Given the description of an element on the screen output the (x, y) to click on. 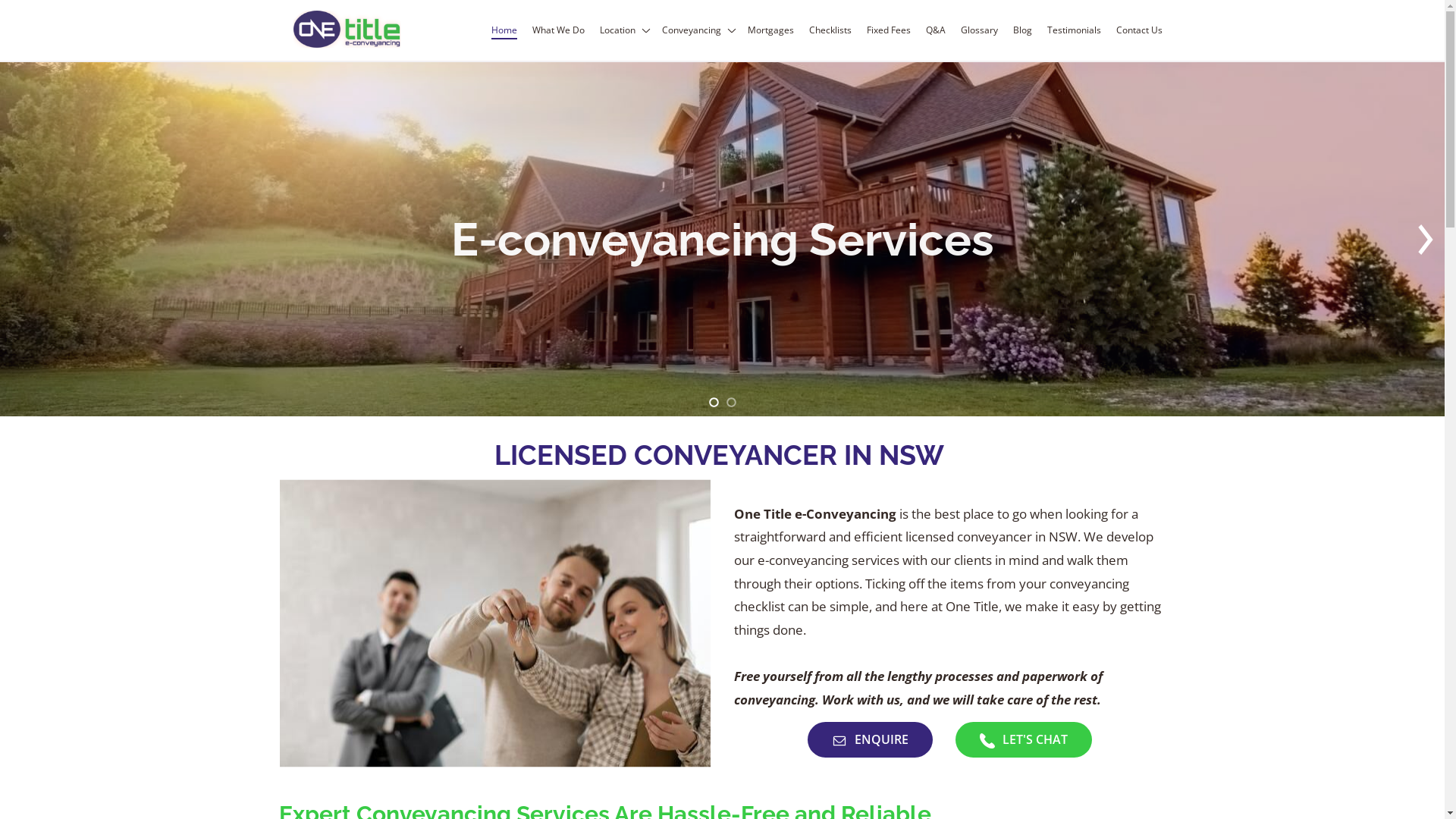
Conveyancing Element type: text (697, 30)
Blog Element type: text (1021, 30)
Contact Us Element type: text (1138, 30)
licensed conveyancer nsw Element type: hover (494, 622)
Q&A Element type: text (935, 30)
Checklists Element type: text (830, 30)
Glossary Element type: text (979, 30)
Mortgages Element type: text (770, 30)
Fixed Fees Element type: text (888, 30)
LET'S CHAT Element type: text (1023, 739)
Home Element type: text (503, 30)
What We Do Element type: text (557, 30)
Location Element type: text (623, 30)
ENQUIRE Element type: text (869, 739)
Testimonials Element type: text (1073, 30)
